Given the description of an element on the screen output the (x, y) to click on. 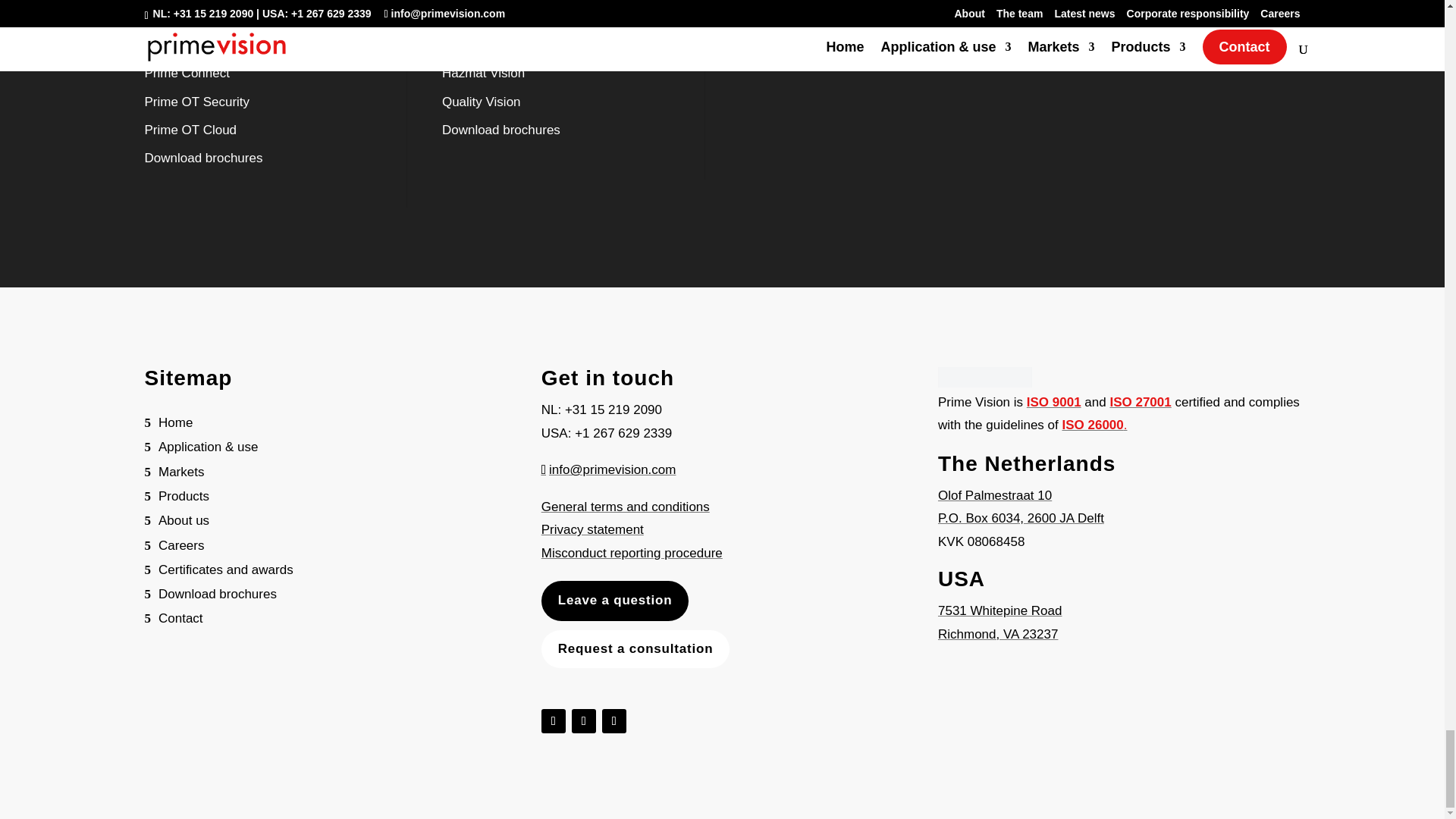
Follow on Youtube (583, 721)
pdf Misconduct reporting procedure (631, 553)
Follow on Instagram (614, 721)
View in Google Maps (994, 495)
View in Google maps (999, 610)
View in Google maps (997, 634)
Follow on LinkedIn (553, 721)
View in Google Maps (1020, 518)
